Given the description of an element on the screen output the (x, y) to click on. 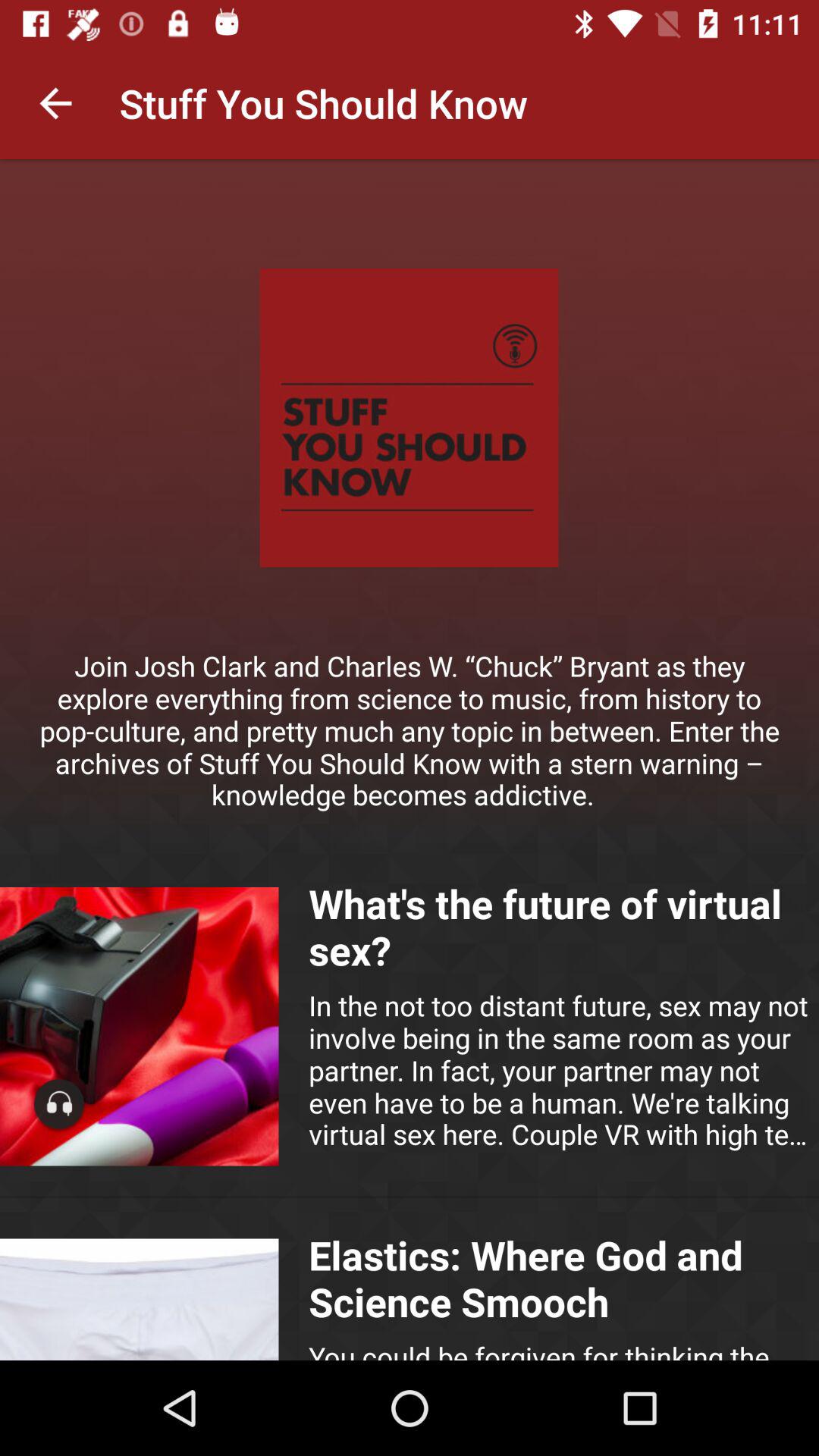
image from article (139, 1299)
